Given the description of an element on the screen output the (x, y) to click on. 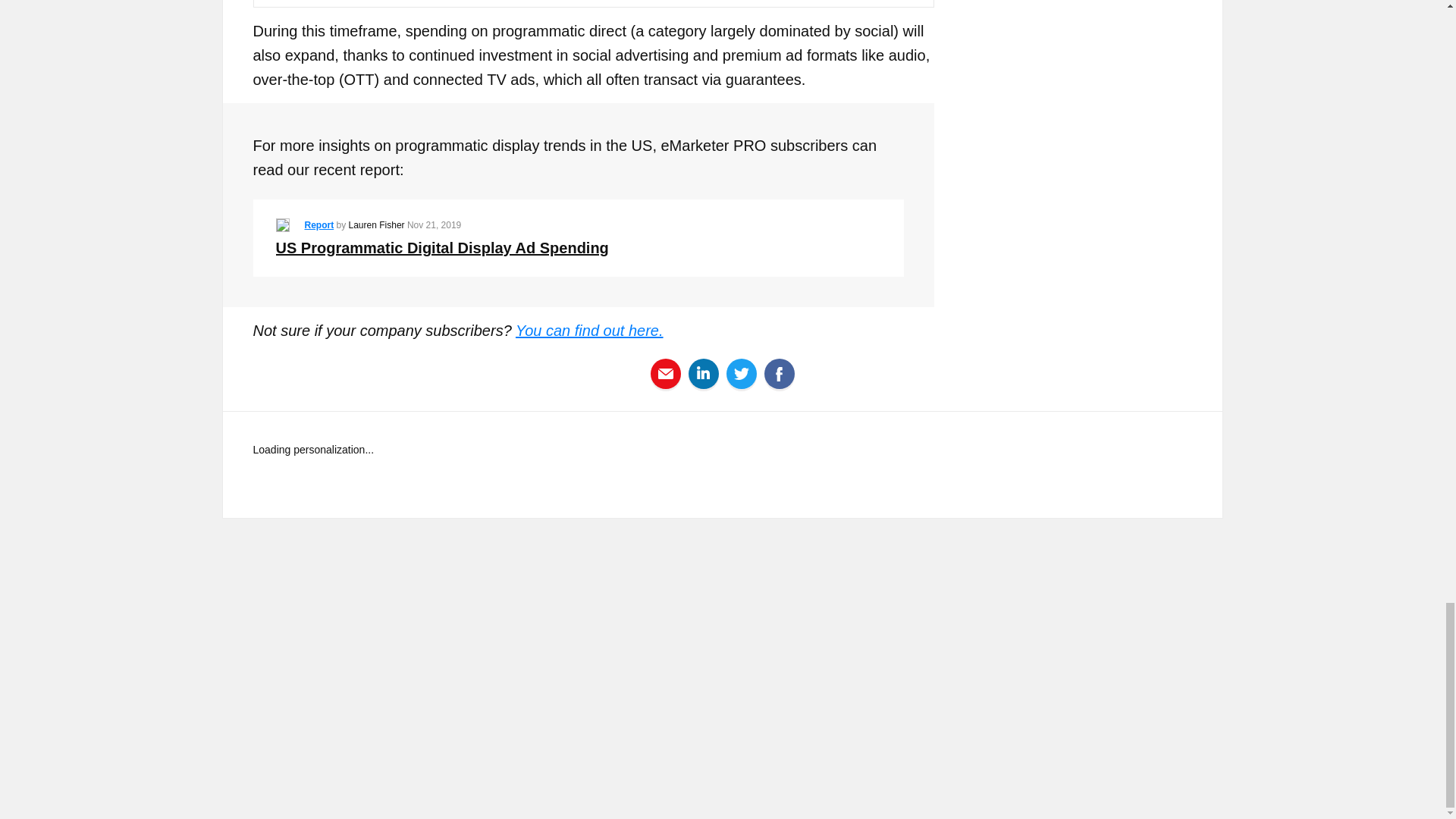
US Programmatic Digital Display Ad Spending (442, 247)
Report (319, 225)
Share via Email (665, 372)
Share via Facebook (779, 372)
You can find out here. (589, 330)
